Given the description of an element on the screen output the (x, y) to click on. 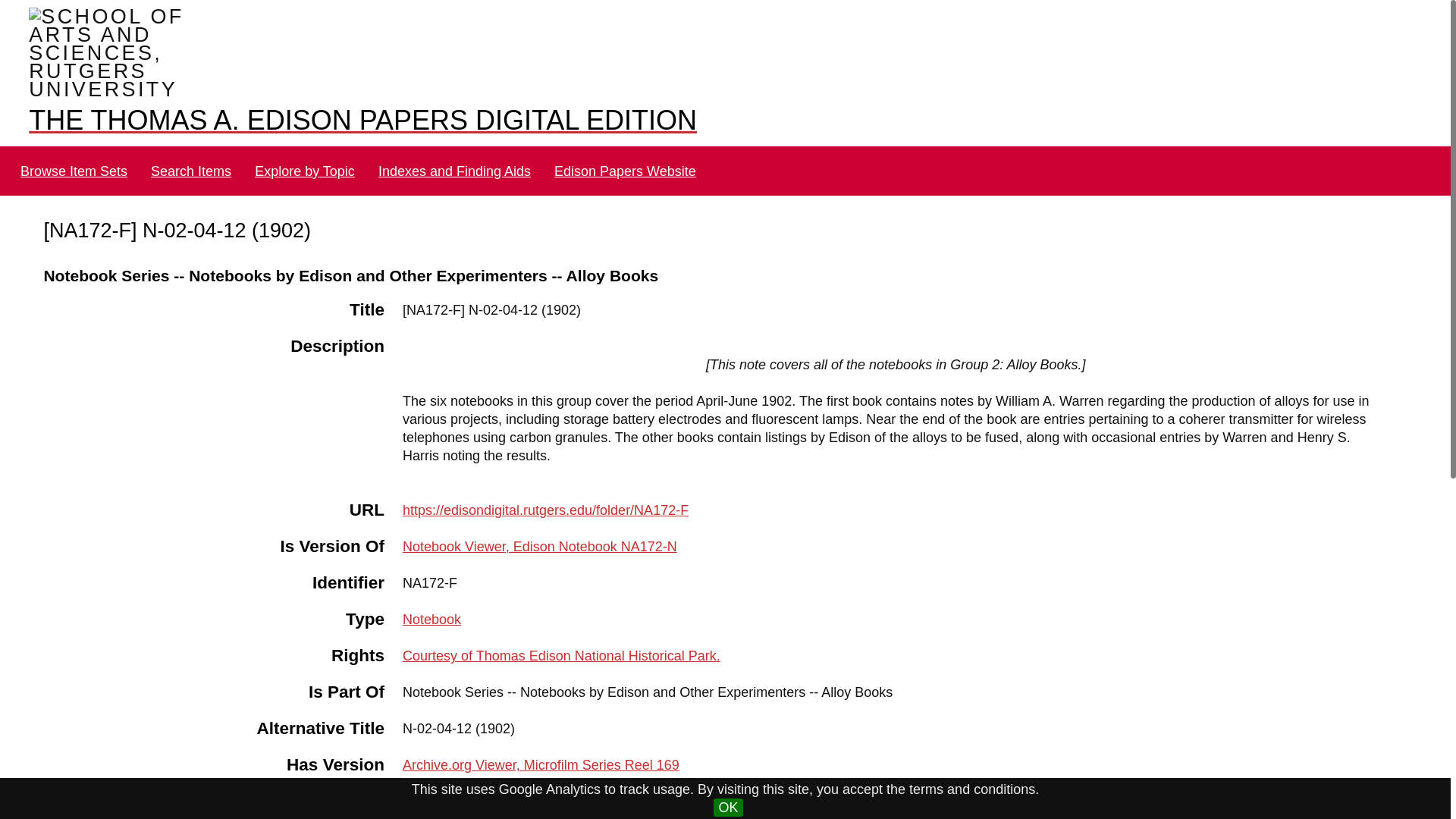
Archive.org Viewer, Microfilm Series Reel 169 (541, 765)
Courtesy of Thomas Edison National Historical Park. (561, 655)
Browse Item Sets (73, 171)
Explore by Topic (304, 171)
OK (727, 807)
Search Items (191, 171)
Indexes and Finding Aids (454, 171)
Notebook (432, 619)
Edison Papers Website (625, 171)
Notebook Viewer, Edison Notebook NA172-N (540, 546)
